Given the description of an element on the screen output the (x, y) to click on. 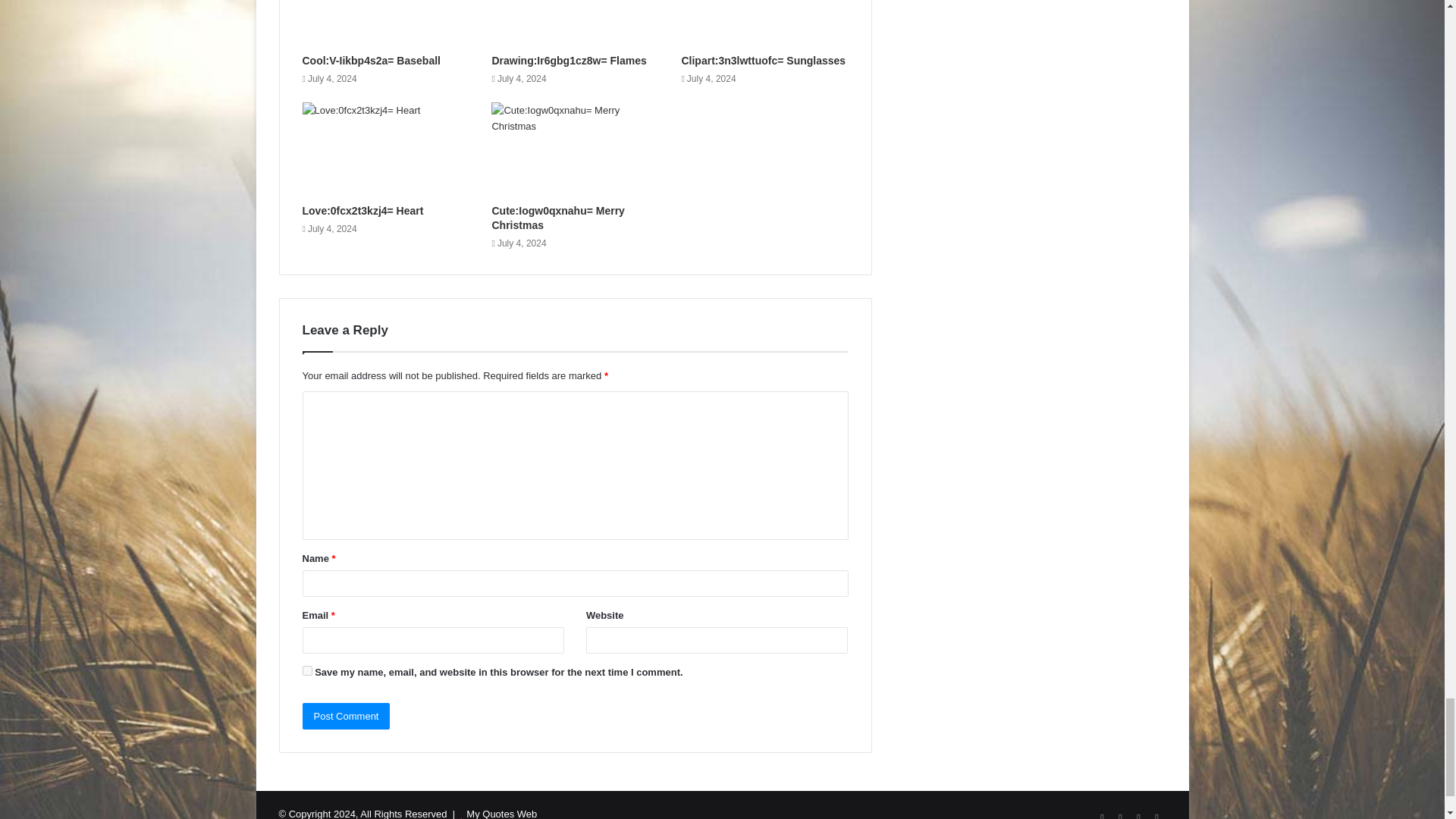
yes (306, 670)
Post Comment (345, 715)
